Given the description of an element on the screen output the (x, y) to click on. 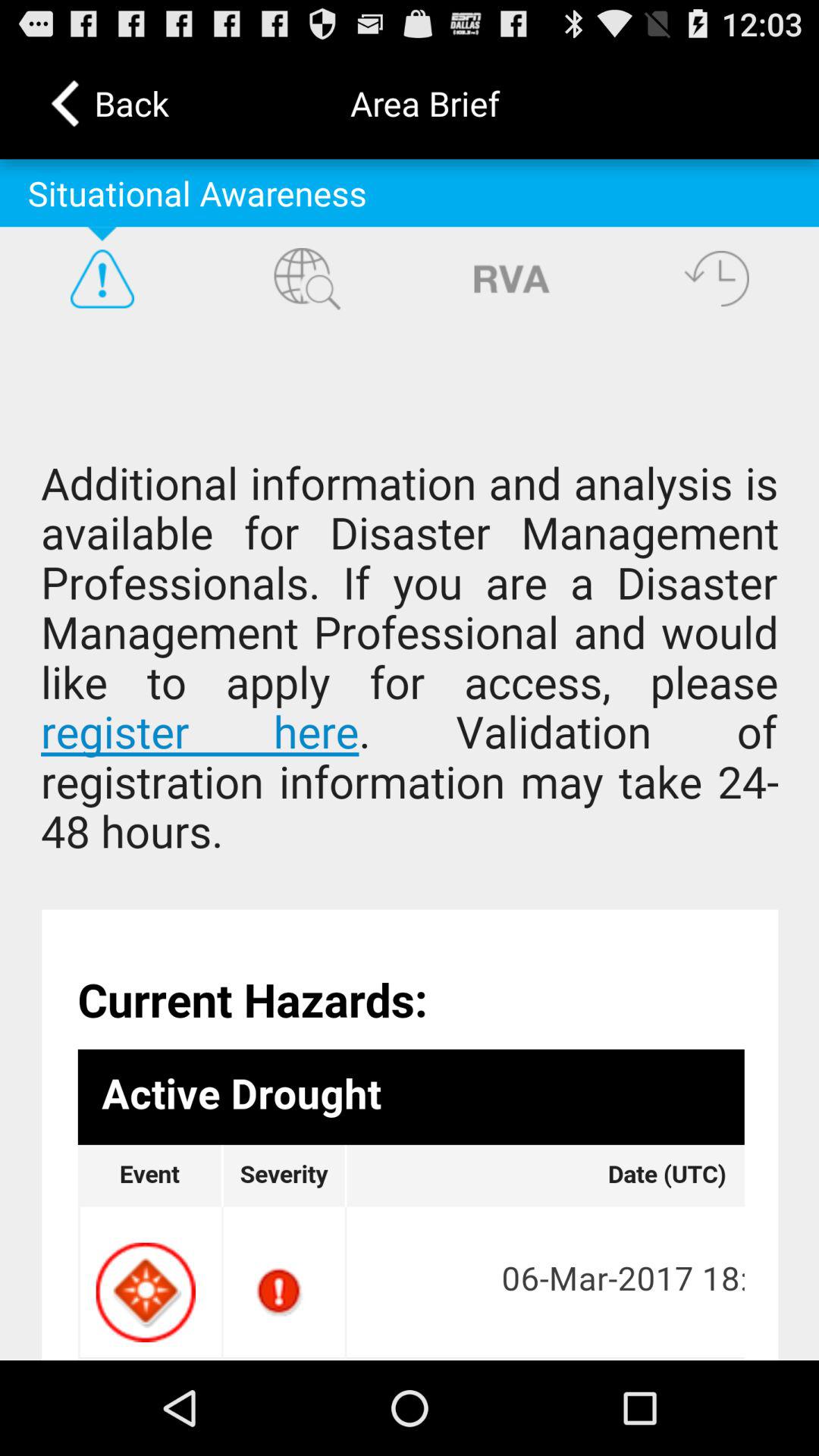
search (306, 278)
